Given the description of an element on the screen output the (x, y) to click on. 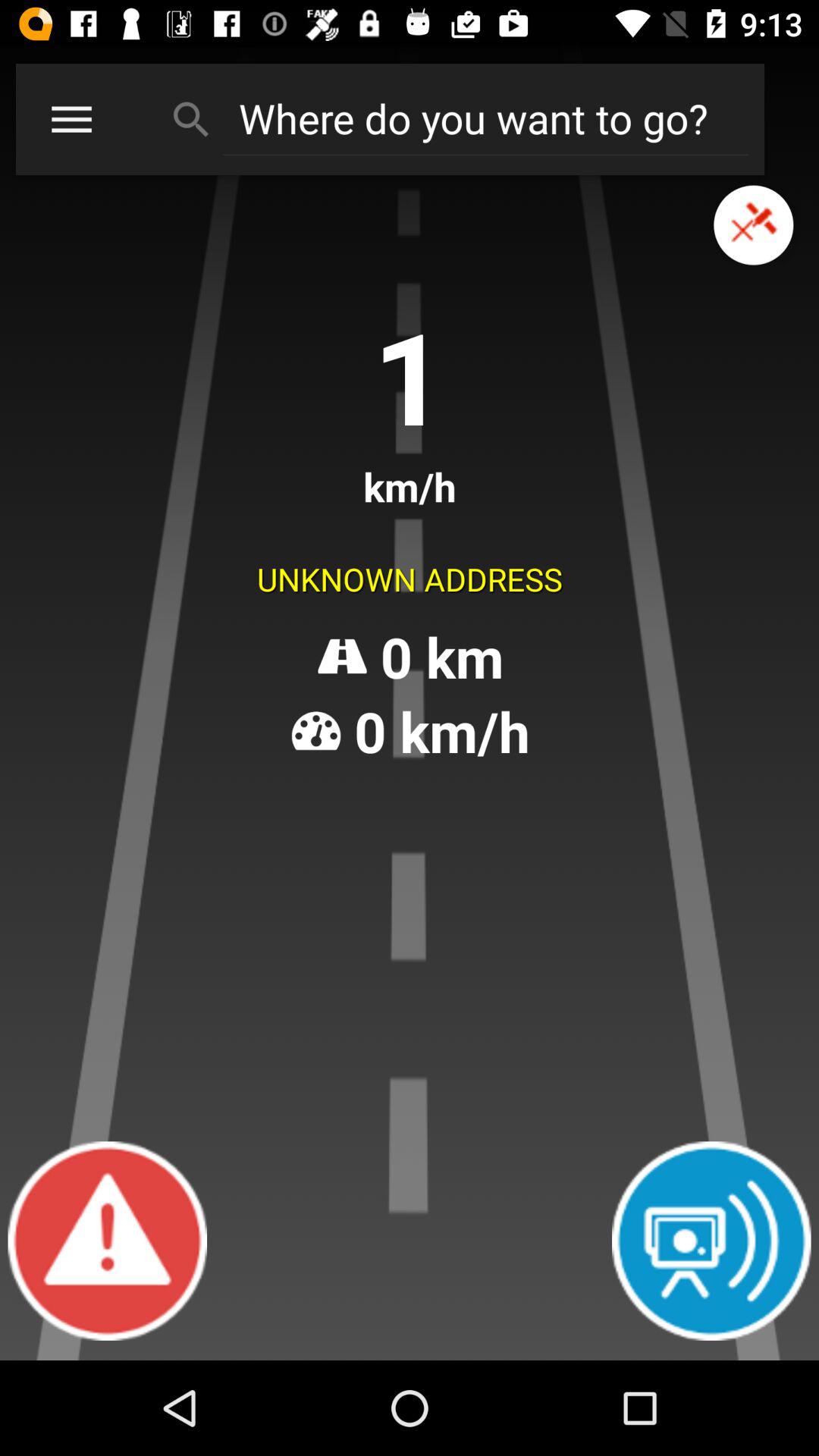
select the cancel option (753, 225)
